Given the description of an element on the screen output the (x, y) to click on. 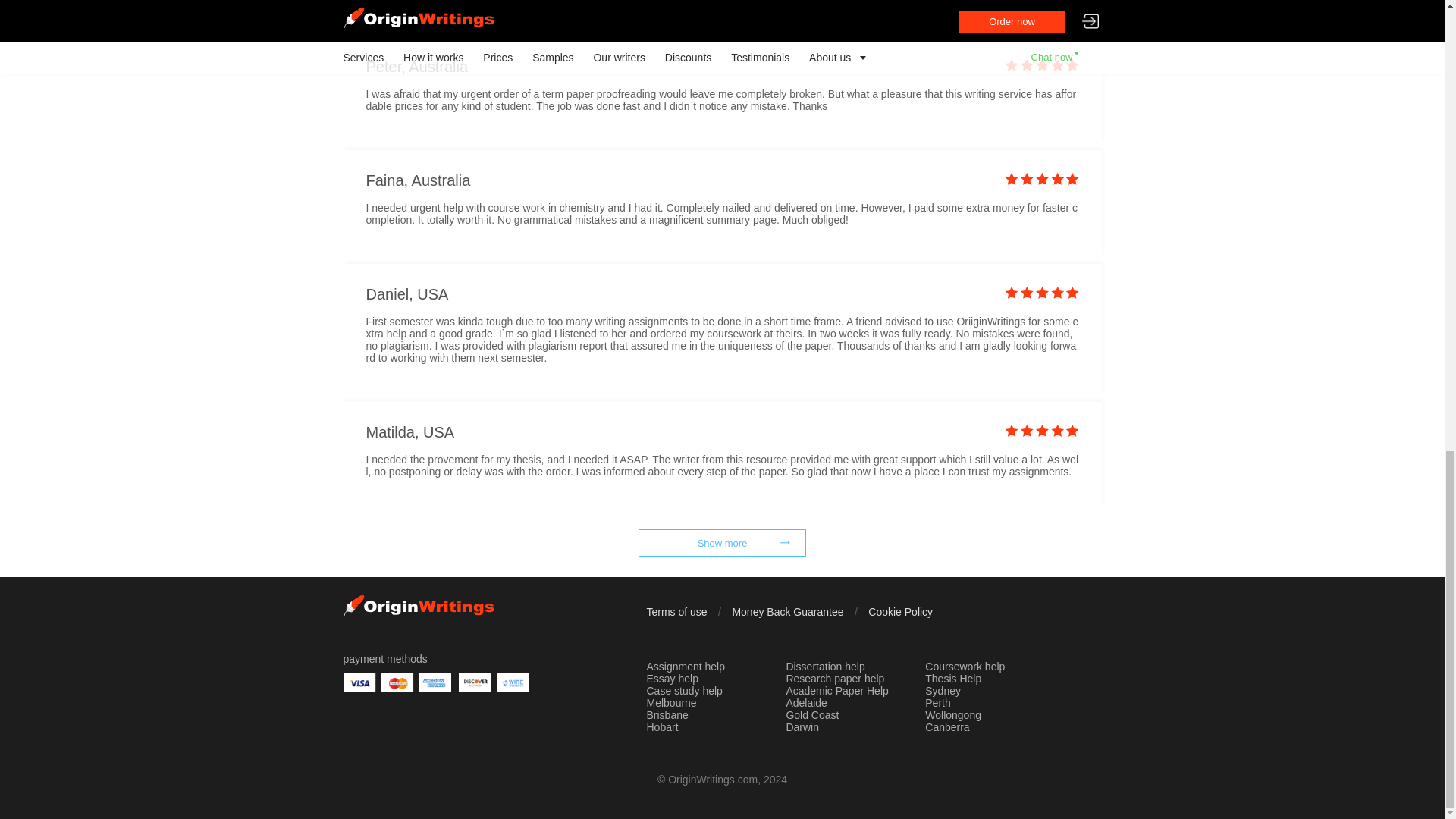
Gold Coast (812, 715)
Melbourne (670, 703)
Assignment help (685, 667)
Essay help (671, 679)
Money Back Guarantee (787, 612)
Adelaide (806, 703)
Coursework help (964, 667)
Terms of use (676, 612)
Cookie Policy (900, 612)
Academic Paper Help (837, 691)
Dissertation help (825, 667)
Research paper help (834, 679)
Perth (937, 703)
Brisbane (666, 715)
Sydney (942, 691)
